Given the description of an element on the screen output the (x, y) to click on. 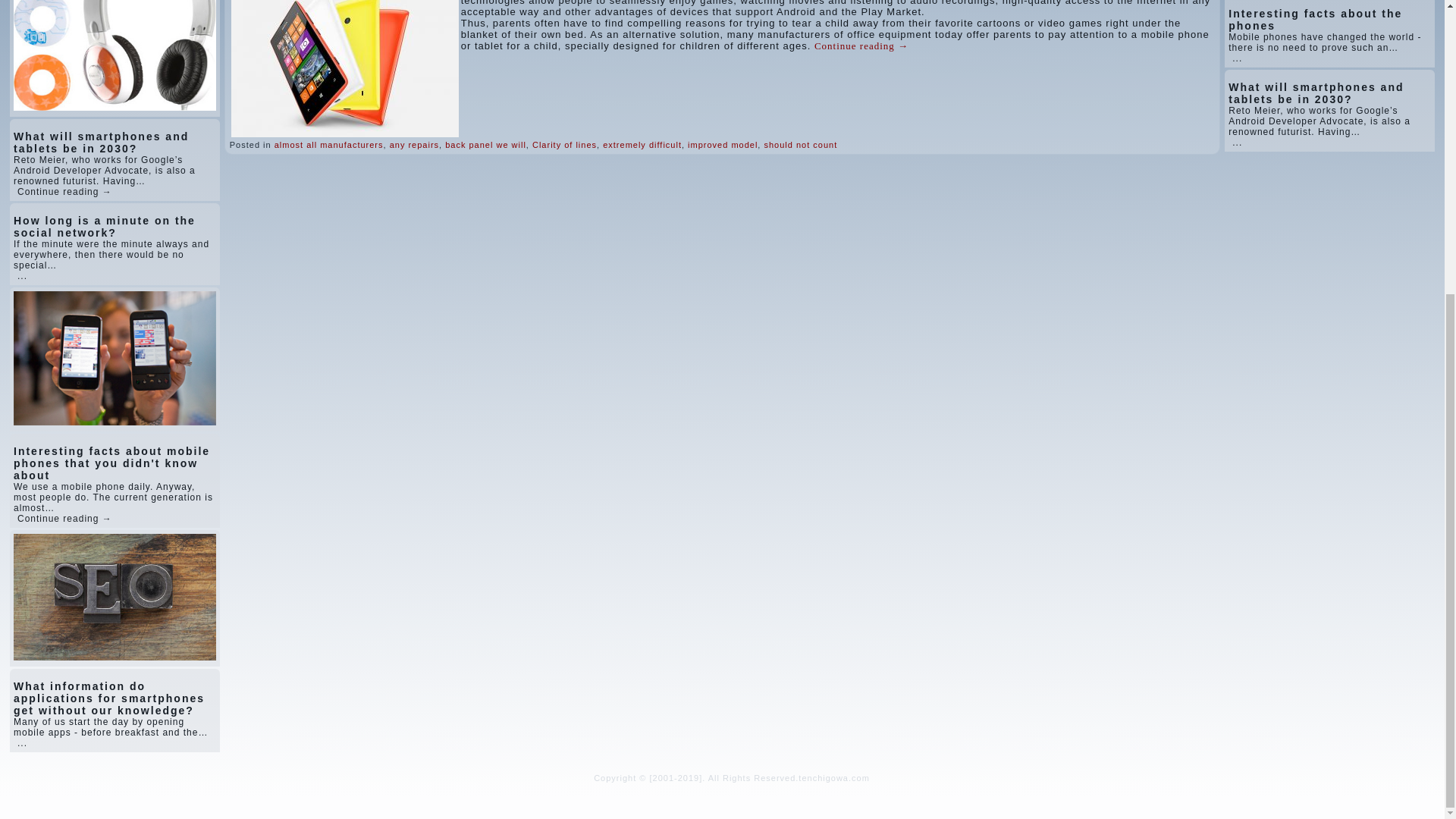
back panel we will (485, 144)
... (22, 276)
any repairs (414, 144)
should not count (799, 144)
Clarity of lines (564, 144)
almost all manufacturers (329, 144)
improved model (722, 144)
extremely difficult (641, 144)
... (22, 742)
